Given the description of an element on the screen output the (x, y) to click on. 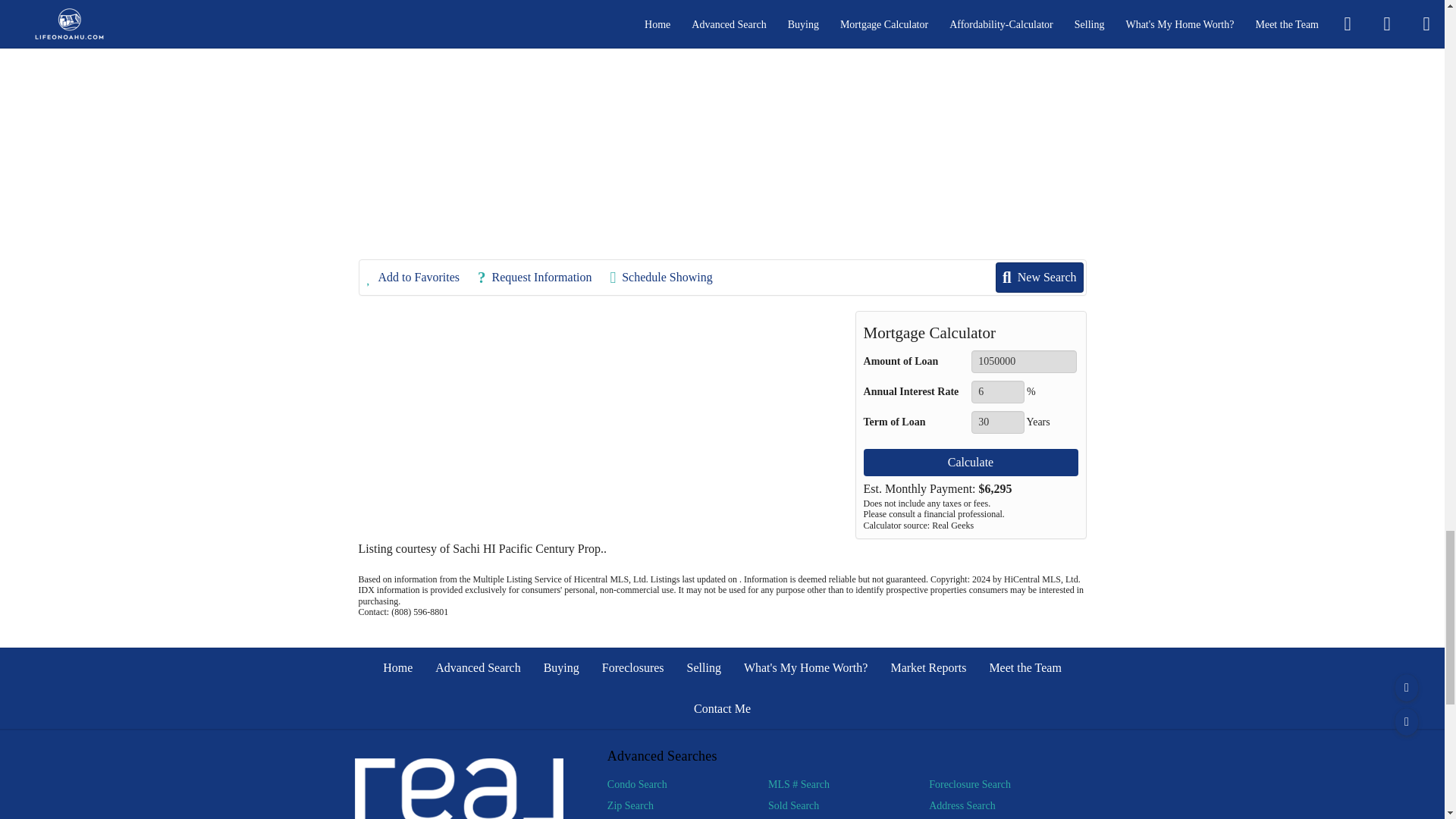
30 (997, 422)
6 (997, 391)
1050000 (1024, 361)
Logo (459, 788)
